Given the description of an element on the screen output the (x, y) to click on. 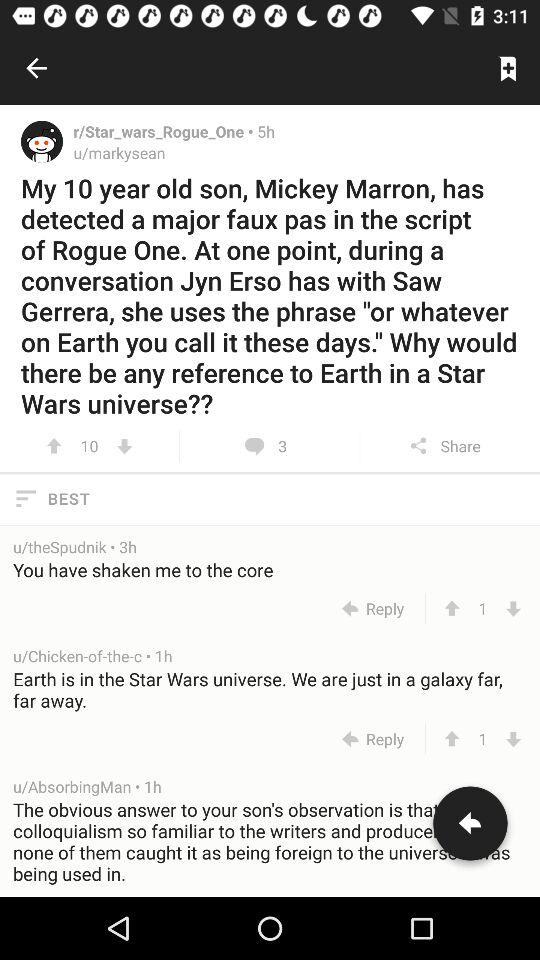
down vote comment (513, 738)
